Given the description of an element on the screen output the (x, y) to click on. 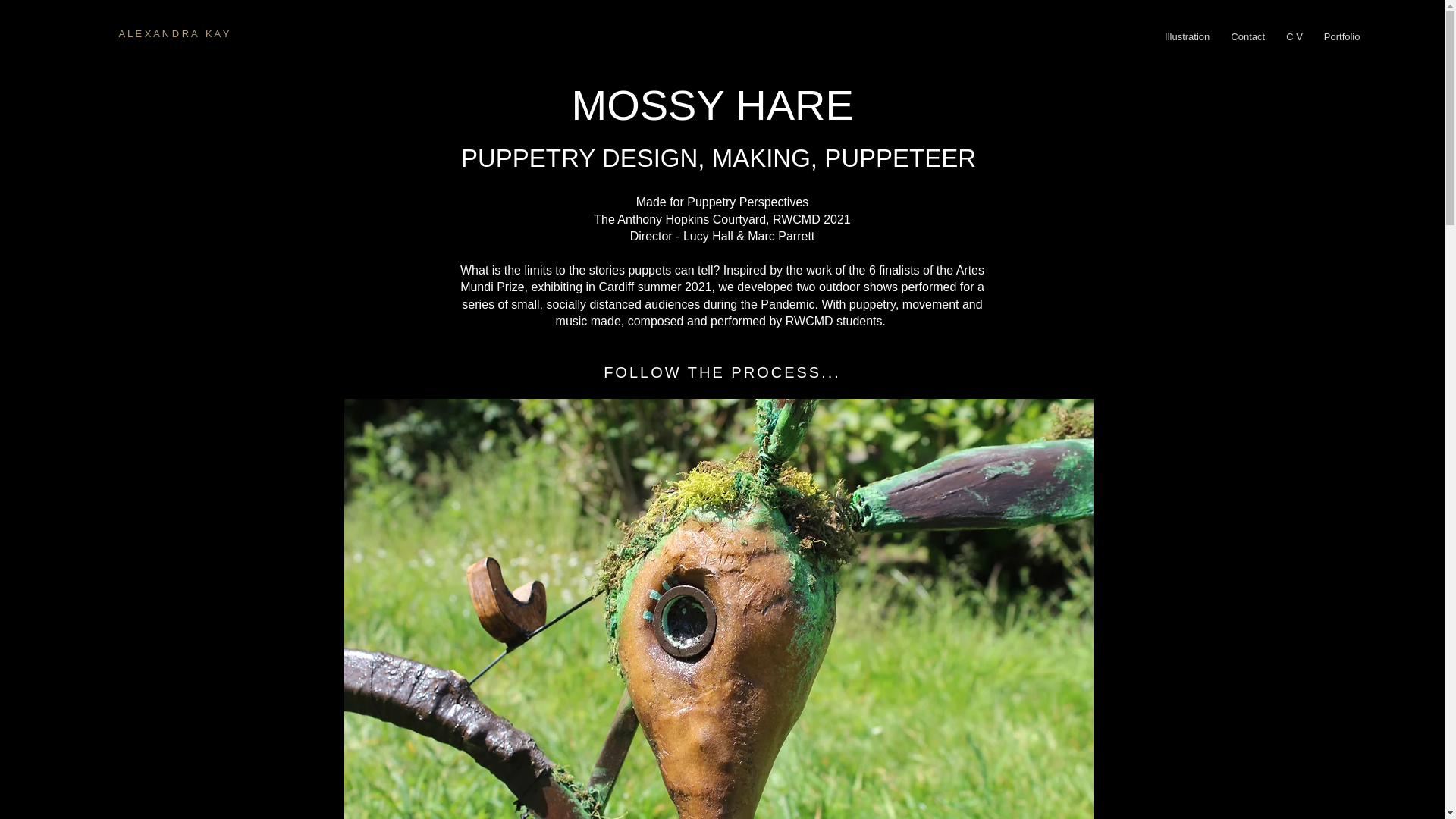
Illustration (1187, 36)
C V (1294, 36)
Contact (1247, 36)
FOLLOW THE PROCESS... (721, 372)
A L E X A N D R A   K A Y (172, 33)
